Given the description of an element on the screen output the (x, y) to click on. 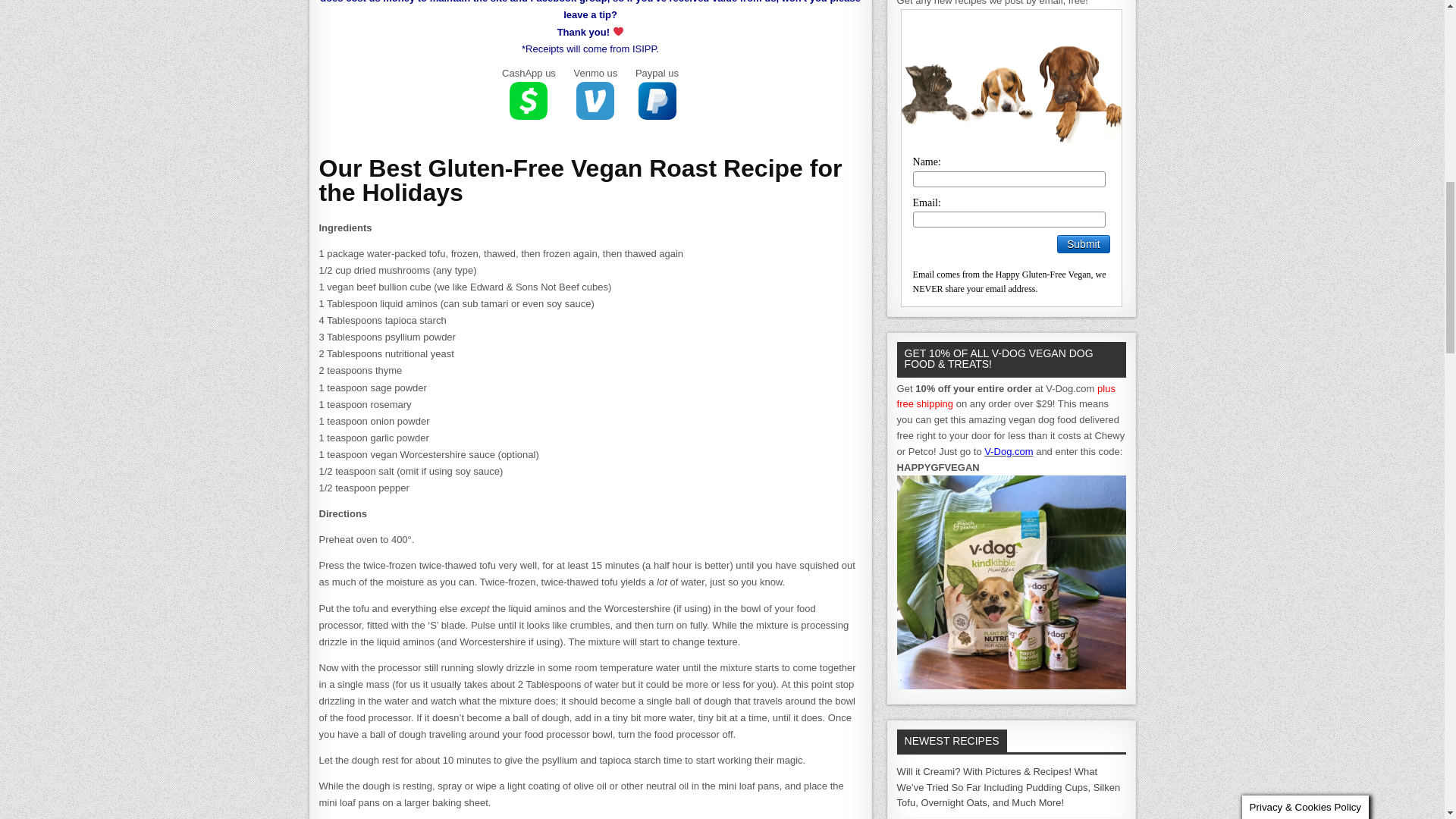
Submit (1083, 244)
